Given the description of an element on the screen output the (x, y) to click on. 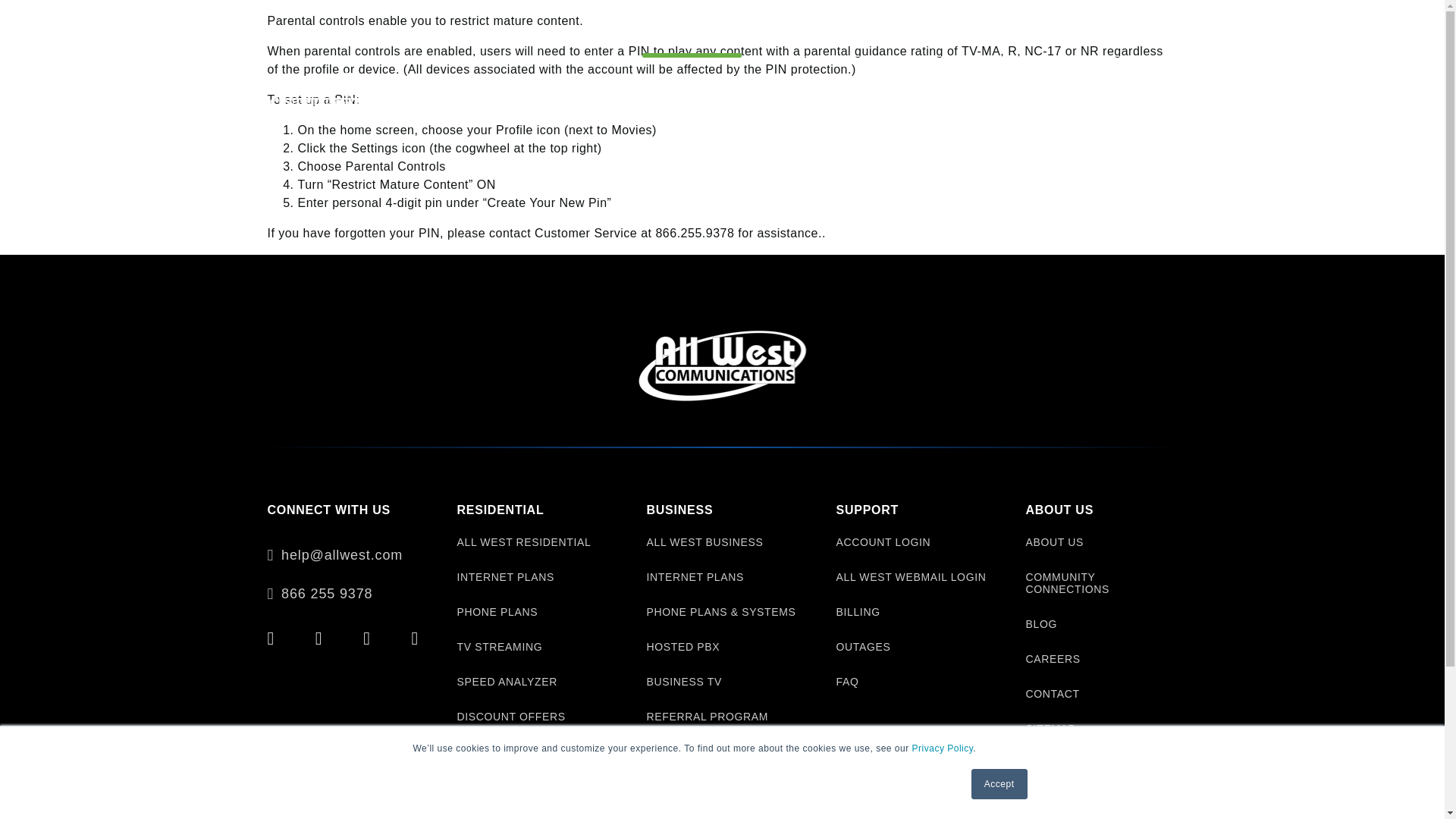
Privacy Policy (943, 747)
Support (805, 96)
RESIDENTIAL (691, 28)
Internet (566, 96)
BUSINESS (812, 28)
My Account (1104, 96)
New Builds (884, 96)
Accept (999, 784)
866 255 9378 (1114, 28)
